Given the description of an element on the screen output the (x, y) to click on. 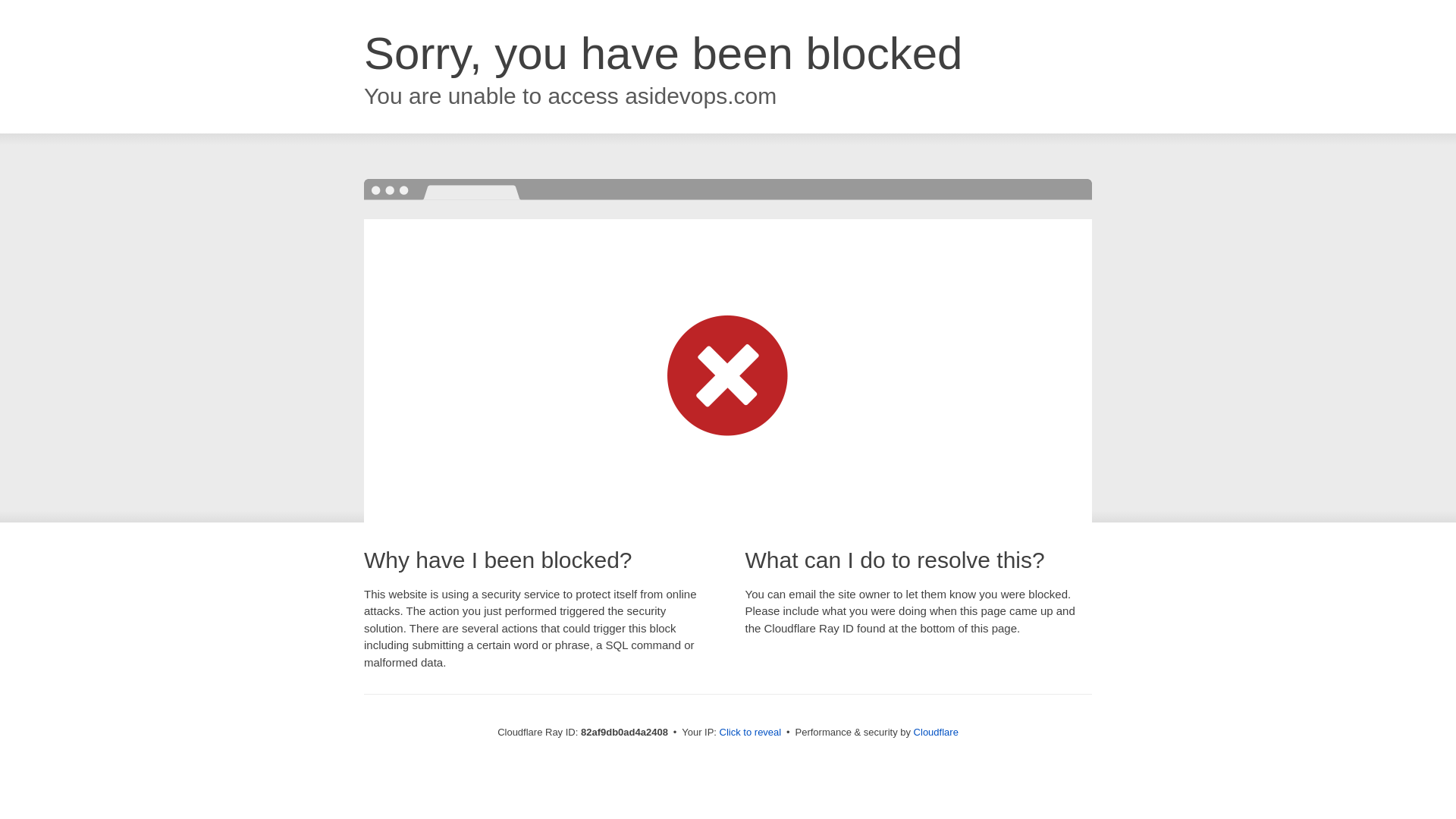
Click to reveal Element type: text (750, 732)
Cloudflare Element type: text (935, 731)
